Given the description of an element on the screen output the (x, y) to click on. 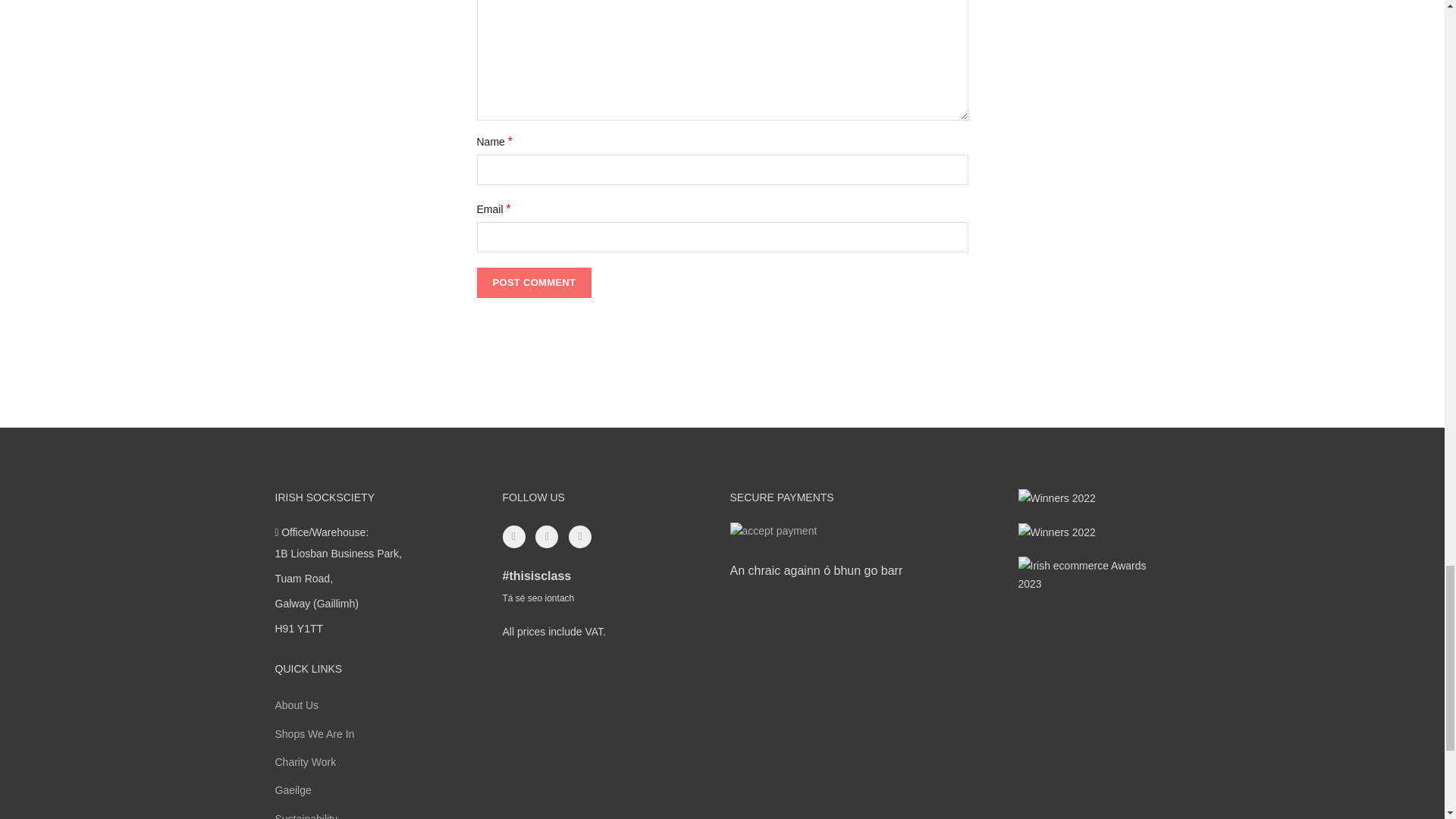
Post Comment (533, 282)
